Given the description of an element on the screen output the (x, y) to click on. 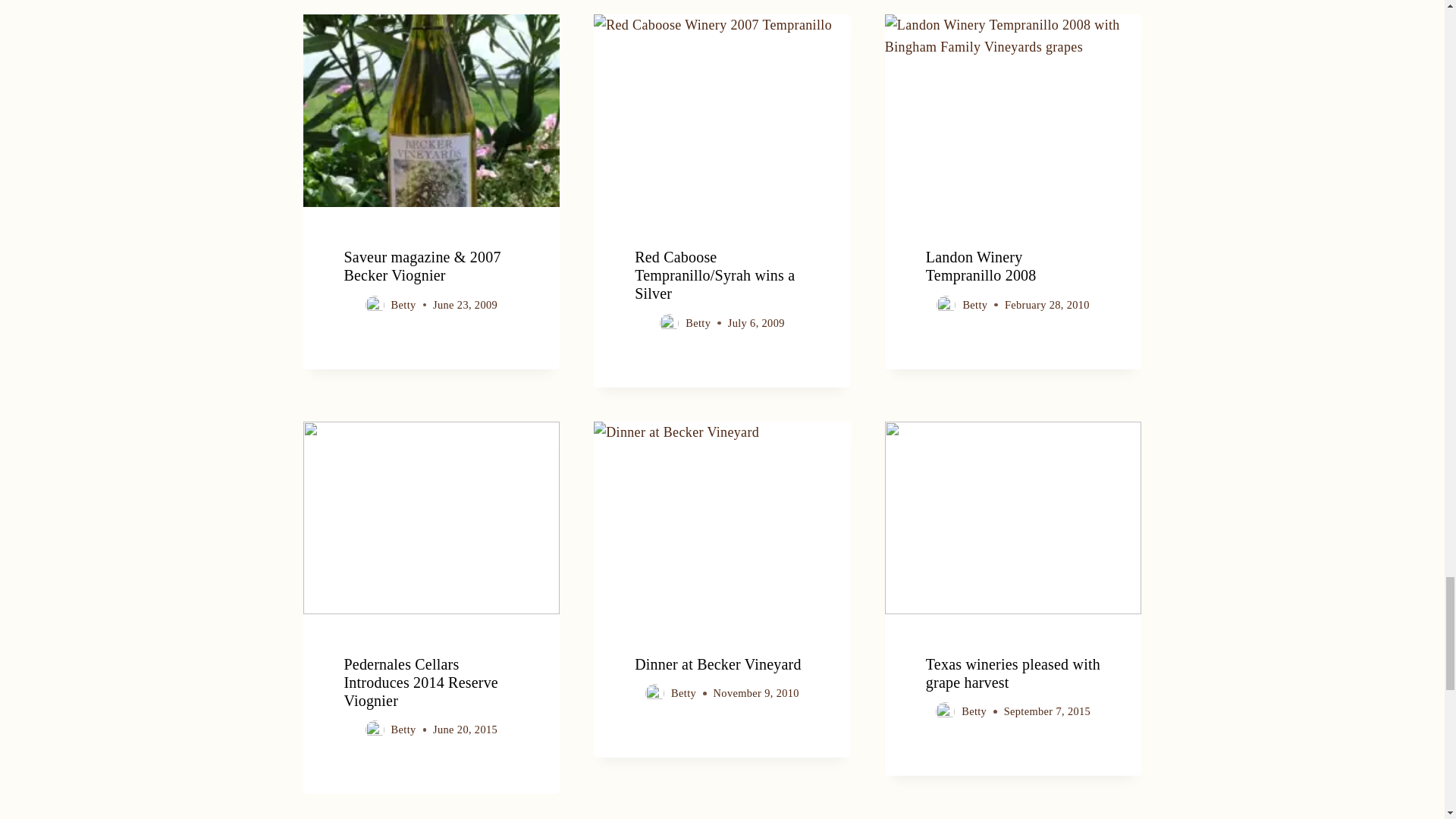
Becker 2007 Viognier - Bingham Family Vineyards (431, 110)
920x920 - Bingham Family Vineyards (1013, 517)
Landon Winery Tempranillo 2008 - Bingham Family Vineyards (1013, 110)
